Given the description of an element on the screen output the (x, y) to click on. 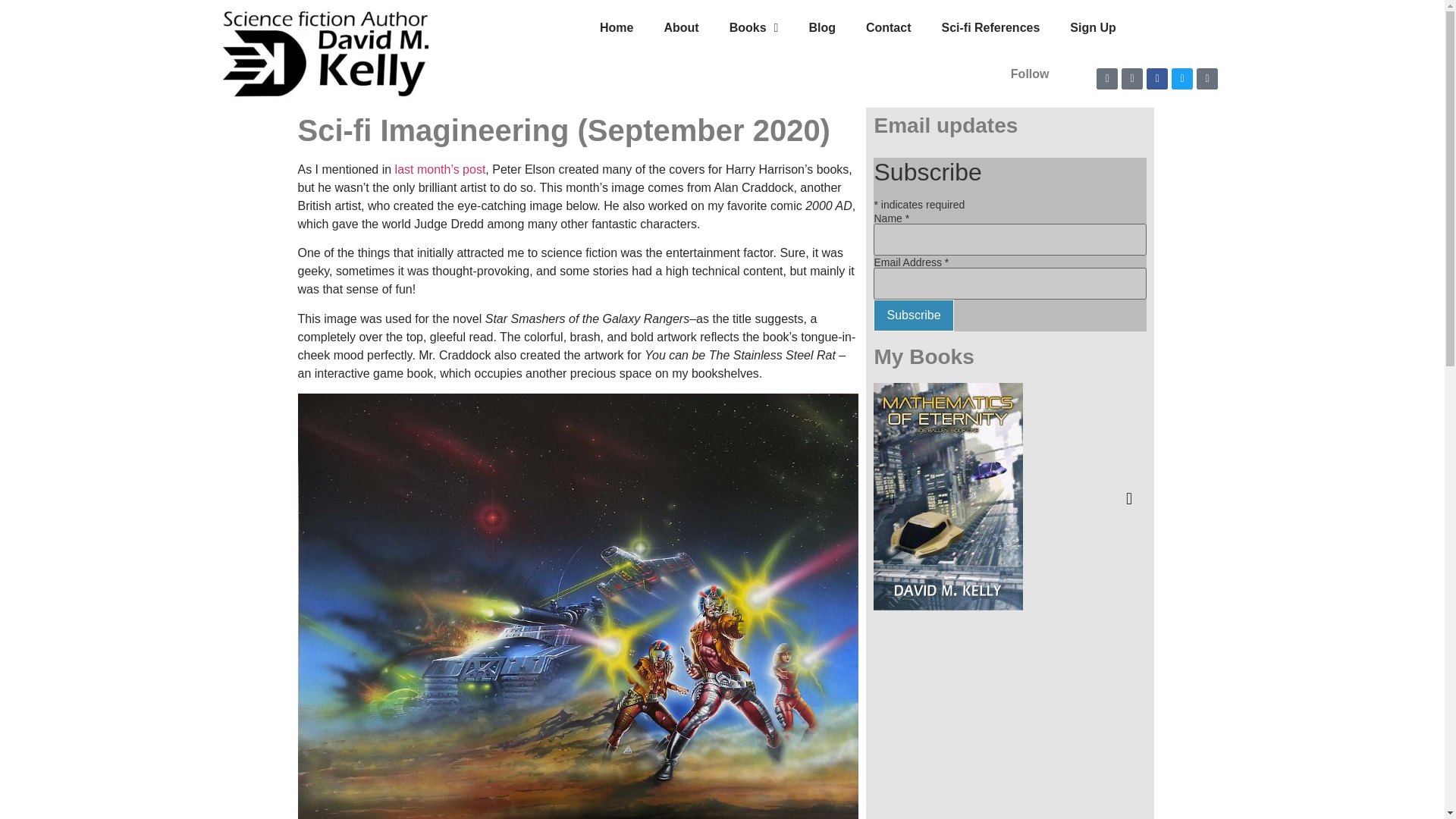
Blog (821, 27)
Sci-fi References (990, 27)
Books (753, 27)
Subscribe (913, 315)
Sign Up (1092, 27)
Contact (888, 27)
About (680, 27)
Home (616, 27)
